Given the description of an element on the screen output the (x, y) to click on. 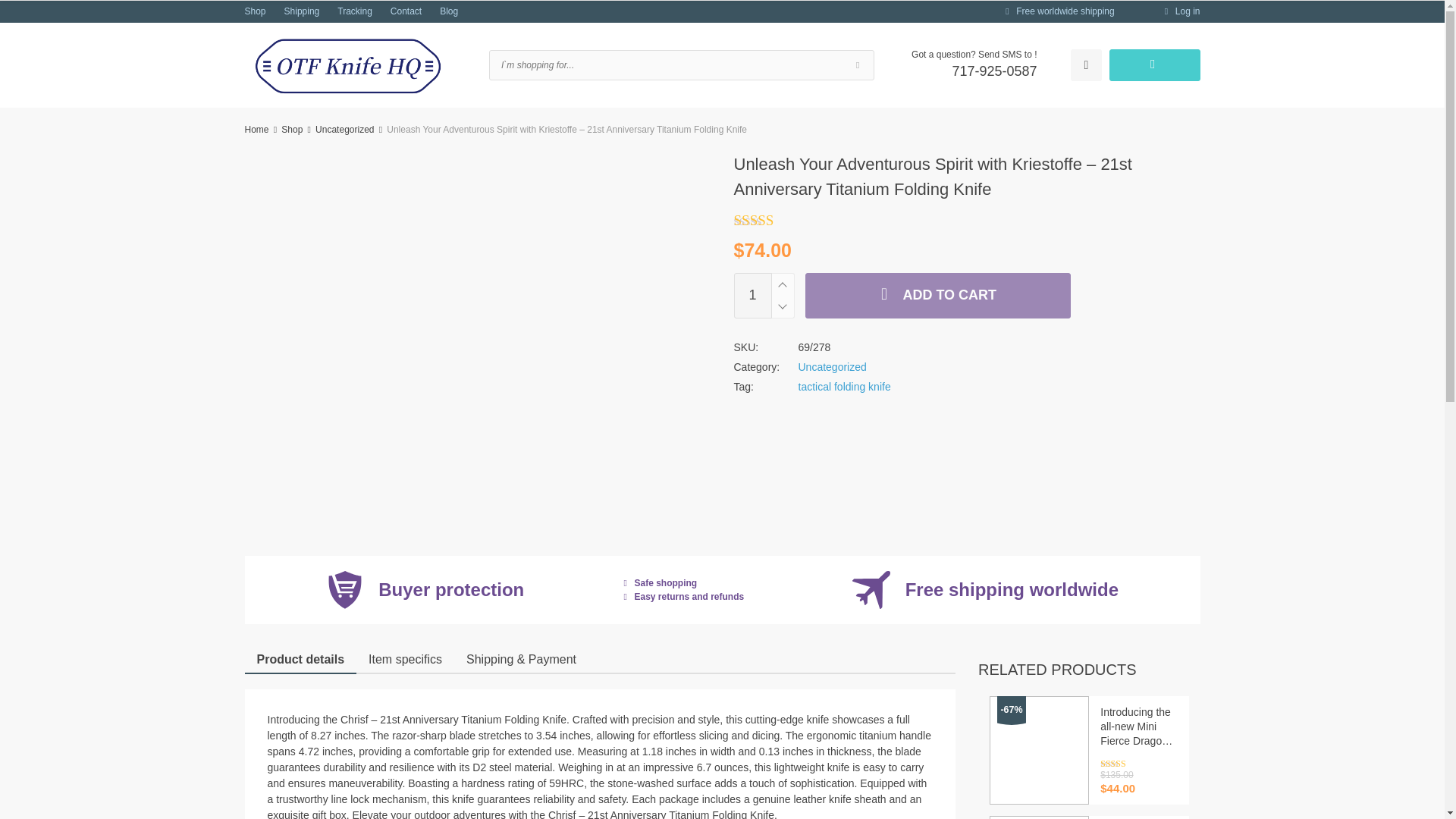
Shop (254, 11)
Contact (406, 11)
Uncategorized (831, 367)
Shop (291, 129)
Product details (300, 659)
Log in (1179, 10)
- (781, 306)
Home (255, 129)
1 (752, 295)
tactical folding knife (843, 386)
Log in (1179, 10)
Tracking (354, 11)
ADD TO CART (937, 295)
Shipping (301, 11)
Item specifics (405, 659)
